Given the description of an element on the screen output the (x, y) to click on. 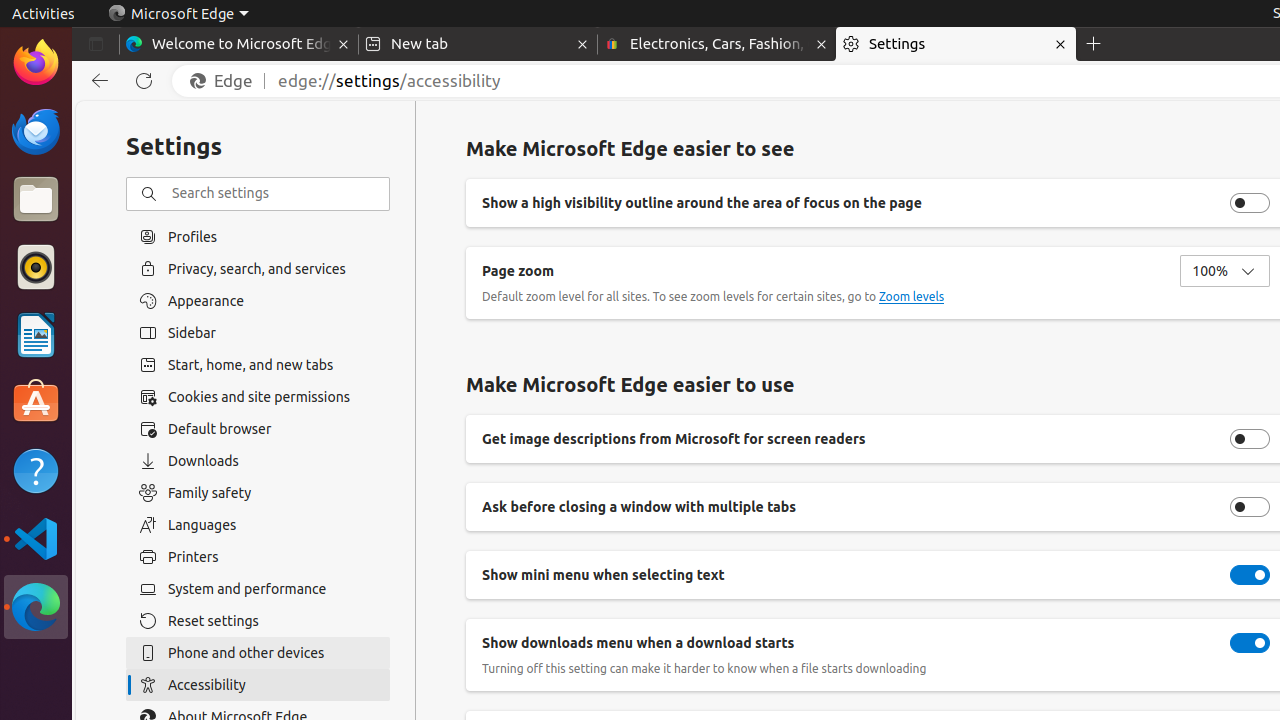
Edge Element type: push-button (226, 81)
Get image descriptions from Microsoft for screen readers Element type: check-box (1250, 439)
Reset settings Element type: tree-item (258, 621)
Sidebar Element type: tree-item (258, 333)
Family safety Element type: tree-item (258, 493)
